Given the description of an element on the screen output the (x, y) to click on. 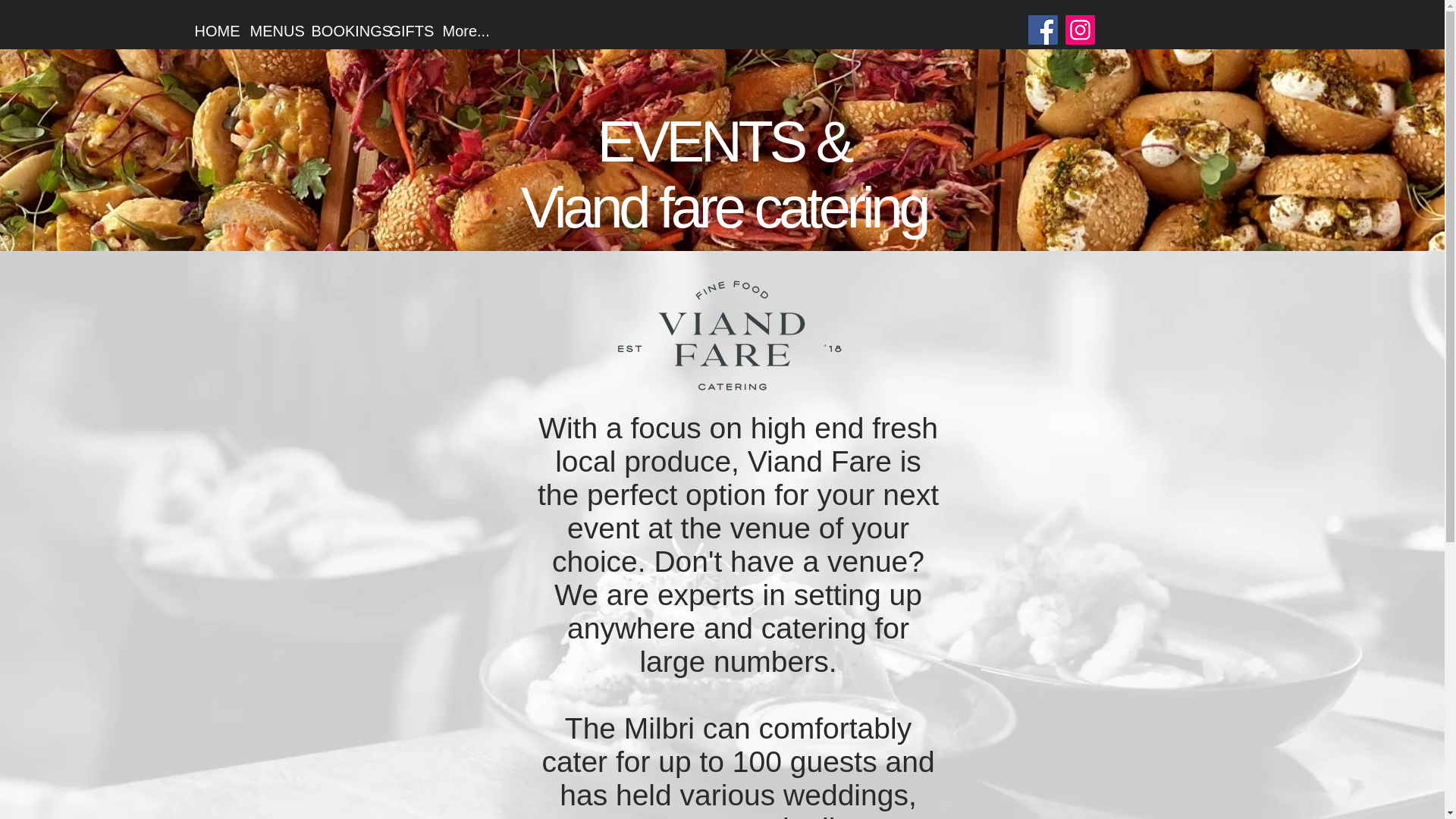
HOME (210, 29)
BOOKINGS (338, 29)
GIFTS (403, 29)
MENUS (268, 29)
